Given the description of an element on the screen output the (x, y) to click on. 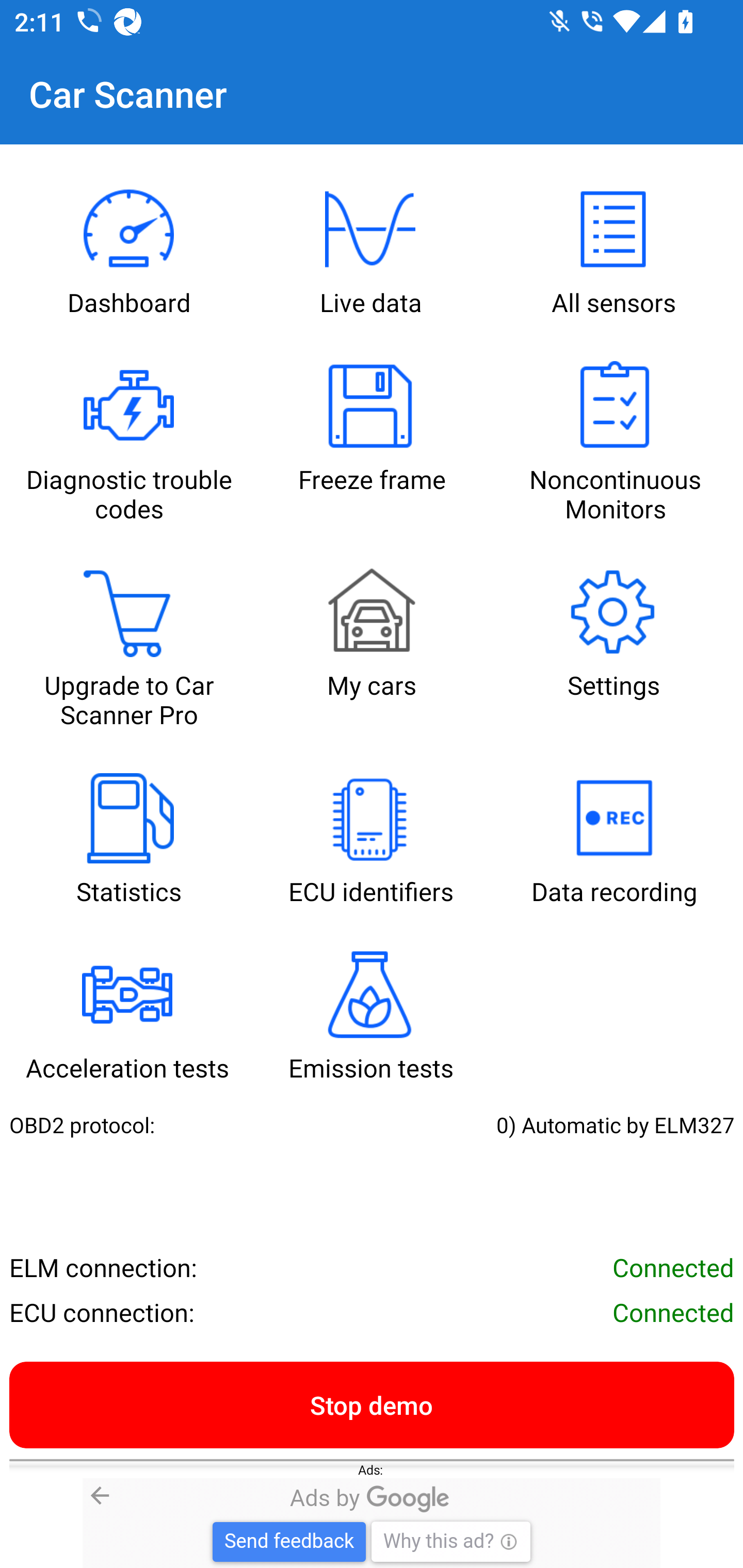
Stop demo (371, 1404)
